Given the description of an element on the screen output the (x, y) to click on. 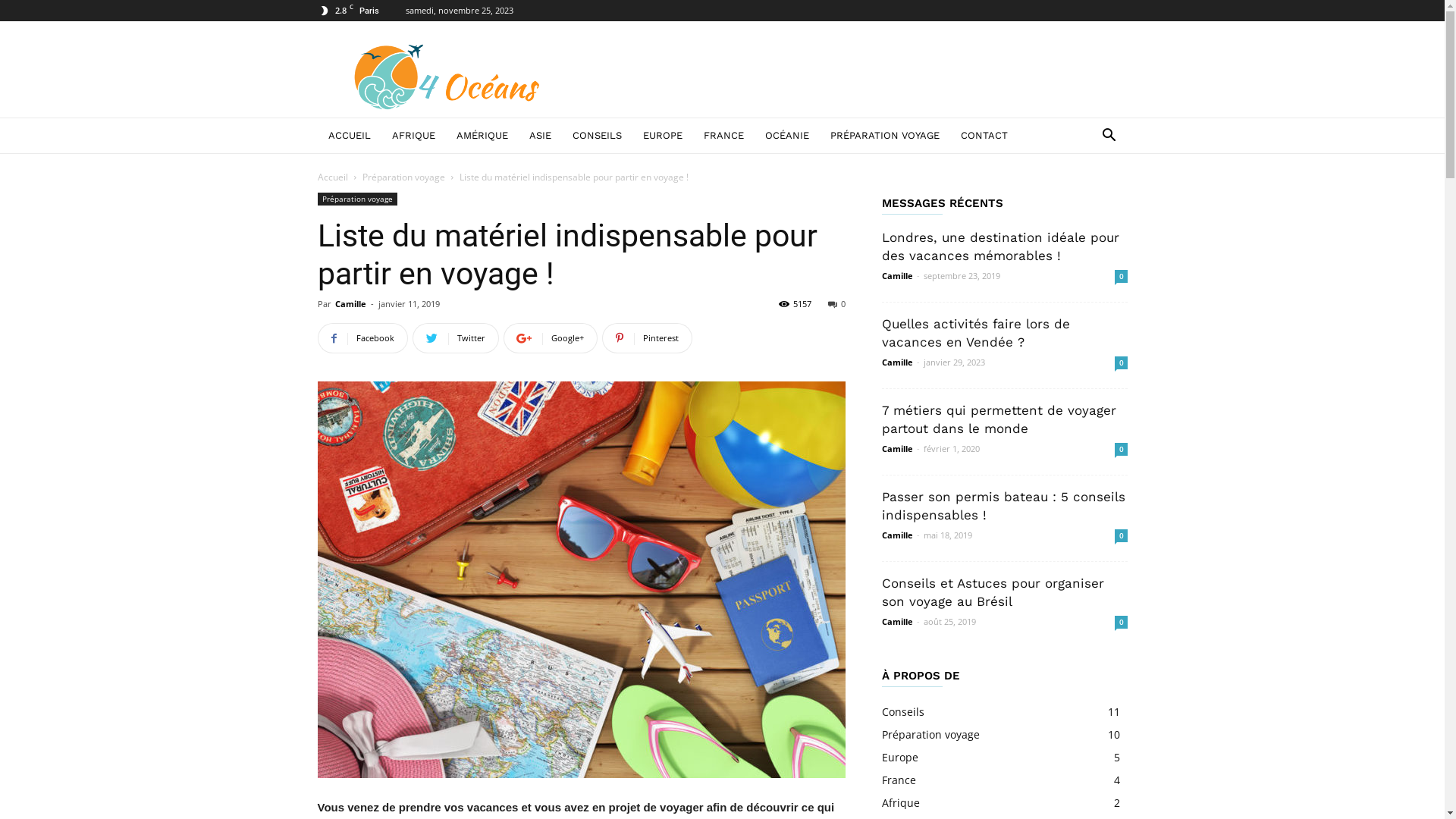
FRANCE Element type: text (723, 135)
0 Element type: text (1120, 621)
Conseils
11 Element type: text (902, 711)
0 Element type: text (1120, 535)
Camille Element type: text (896, 621)
ASIE Element type: text (539, 135)
EUROPE Element type: text (662, 135)
Afrique
2 Element type: text (900, 802)
0 Element type: text (1120, 275)
Camille Element type: text (350, 303)
France
4 Element type: text (898, 779)
Google+ Element type: text (550, 338)
Camille Element type: text (896, 361)
CONSEILS Element type: text (596, 135)
Accueil Element type: text (331, 176)
0 Element type: text (1120, 362)
Twitter Element type: text (455, 338)
Passer son permis bateau : 5 conseils indispensables ! Element type: text (1002, 505)
Europe
5 Element type: text (899, 756)
CONTACT Element type: text (983, 135)
Camille Element type: text (896, 448)
Camille Element type: text (896, 534)
0 Element type: text (836, 303)
Camille Element type: text (896, 275)
AFRIQUE Element type: text (412, 135)
Pinterest Element type: text (647, 338)
Facebook Element type: text (361, 338)
Recherche Element type: text (1076, 196)
ACCUEIL Element type: text (348, 135)
0 Element type: text (1120, 448)
